Given the description of an element on the screen output the (x, y) to click on. 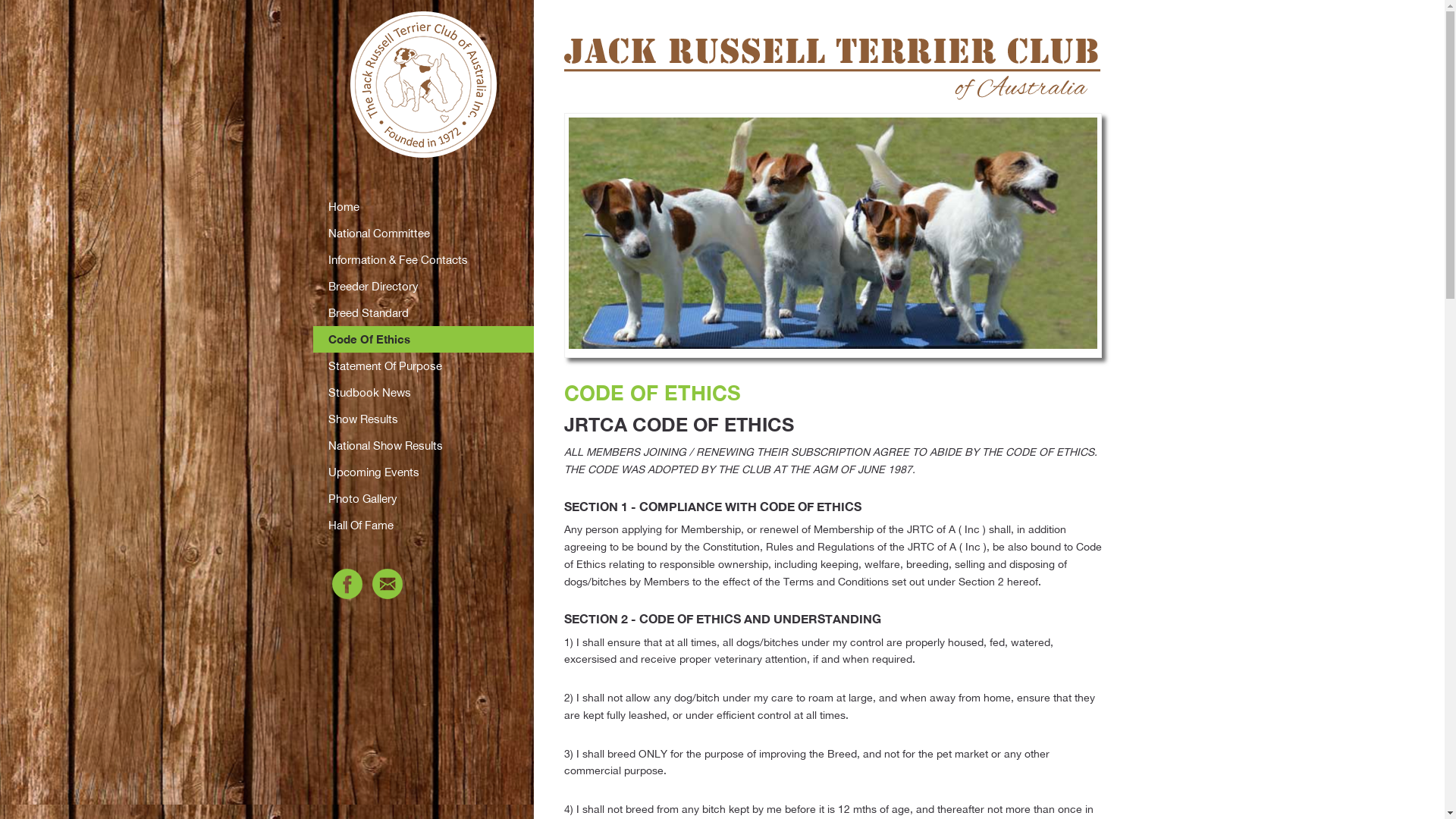
National Show Results Element type: text (422, 445)
Breed Standard Element type: text (422, 312)
Home Element type: text (422, 206)
Statement Of Purpose Element type: text (422, 365)
National Committee Element type: text (422, 232)
Photo Gallery Element type: text (422, 498)
Information & Fee Contacts Element type: text (422, 259)
Upcoming Events Element type: text (422, 471)
Studbook News Element type: text (422, 392)
Show Results Element type: text (422, 418)
Breeder Directory Element type: text (422, 286)
Hall Of Fame Element type: text (422, 524)
Code Of Ethics Element type: text (422, 339)
